Given the description of an element on the screen output the (x, y) to click on. 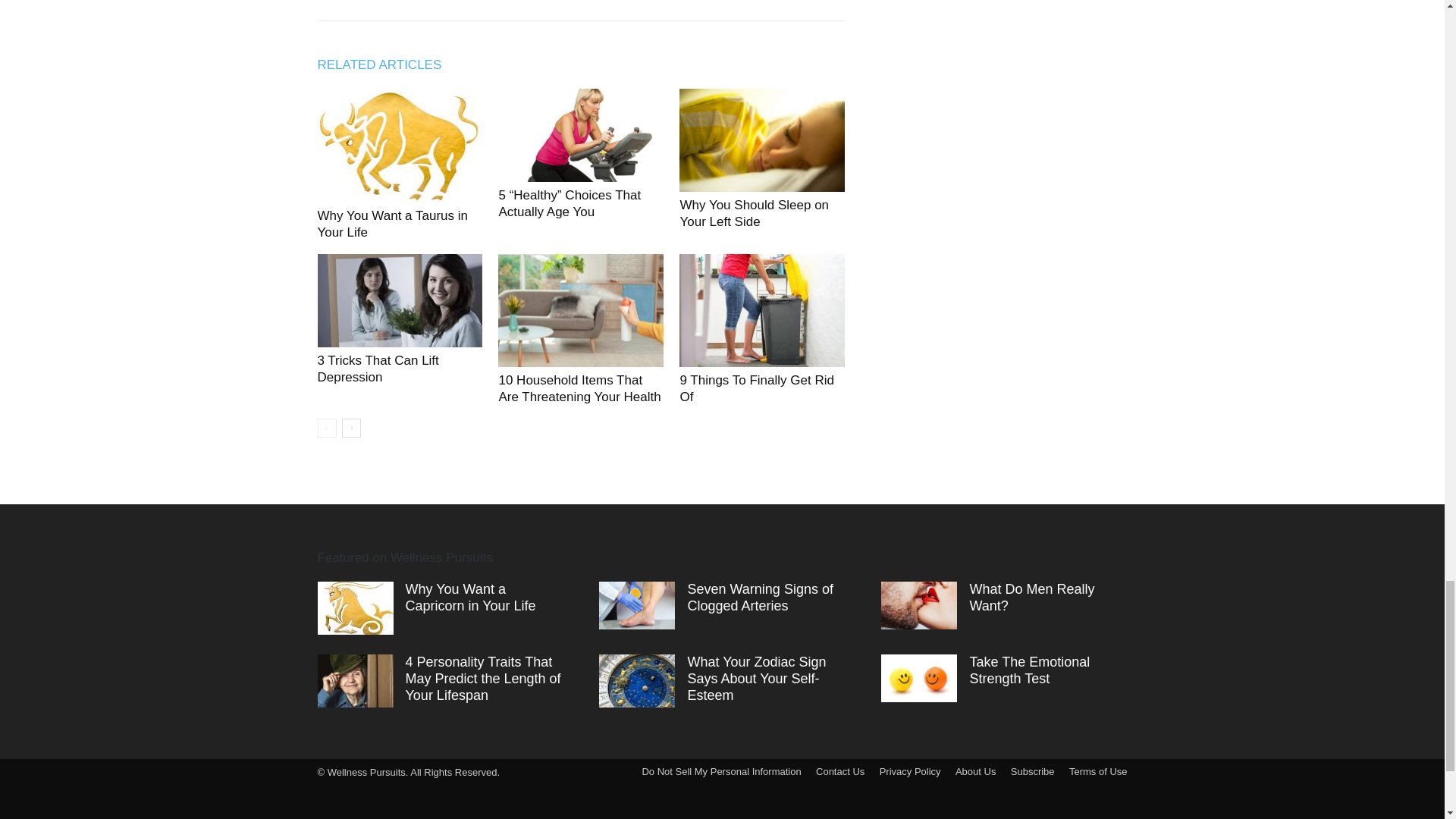
Why You Want a Taurus in Your Life (399, 145)
10 Household Items That Are Threatening Your Health (579, 388)
Why You Want a Taurus in Your Life (392, 223)
Why You Want a Taurus in Your Life (392, 223)
3 Tricks That Can Lift Depression (377, 368)
Why You Should Sleep on Your Left Side (761, 140)
RELATED ARTICLES (387, 64)
9 Things To Finally Get Rid Of (755, 388)
Why You Should Sleep on Your Left Side (753, 213)
